Given the description of an element on the screen output the (x, y) to click on. 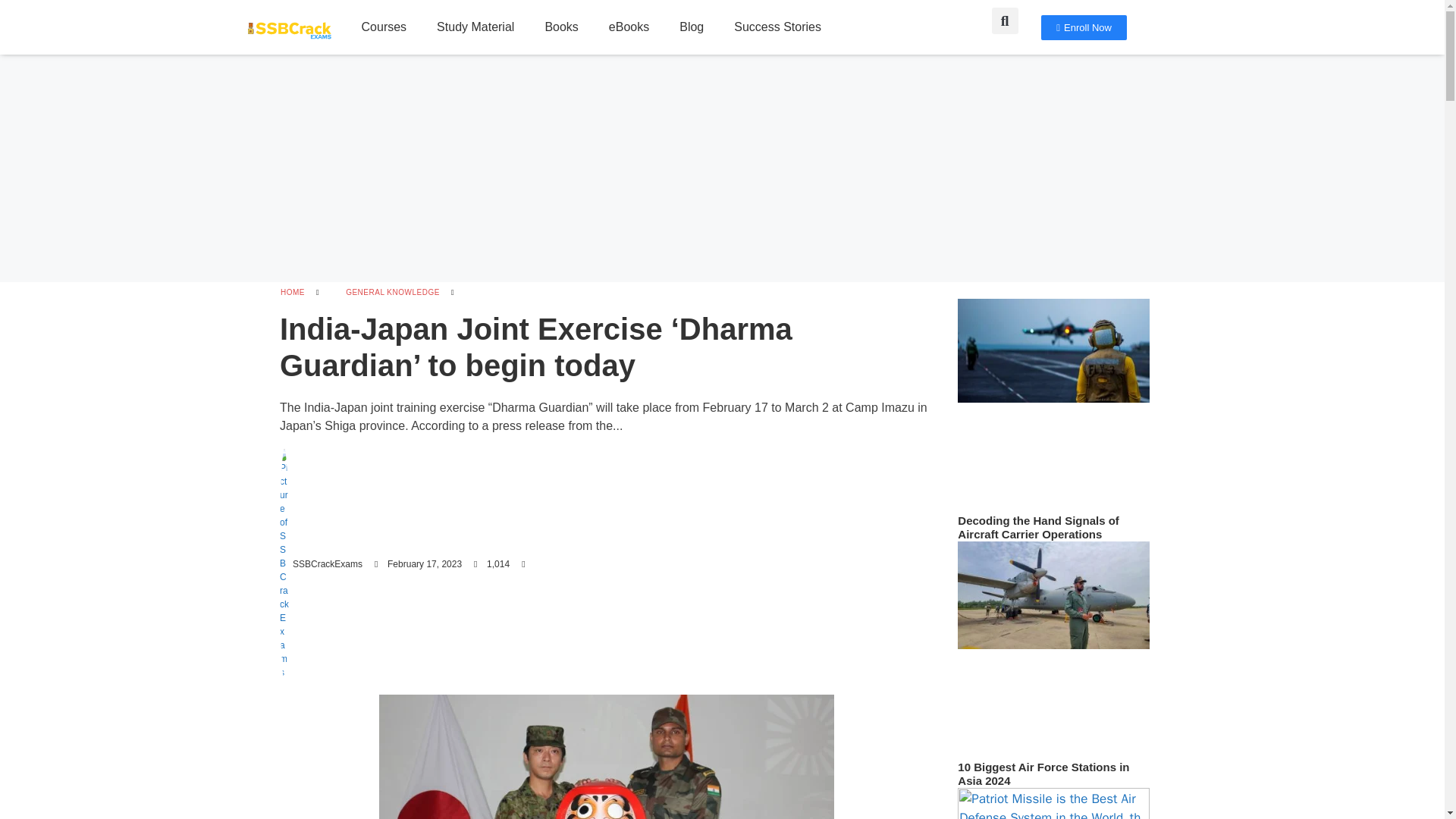
Study Material (475, 27)
Blog (691, 27)
Books (560, 27)
eBooks (628, 27)
Courses (384, 27)
Success Stories (777, 27)
